Given the description of an element on the screen output the (x, y) to click on. 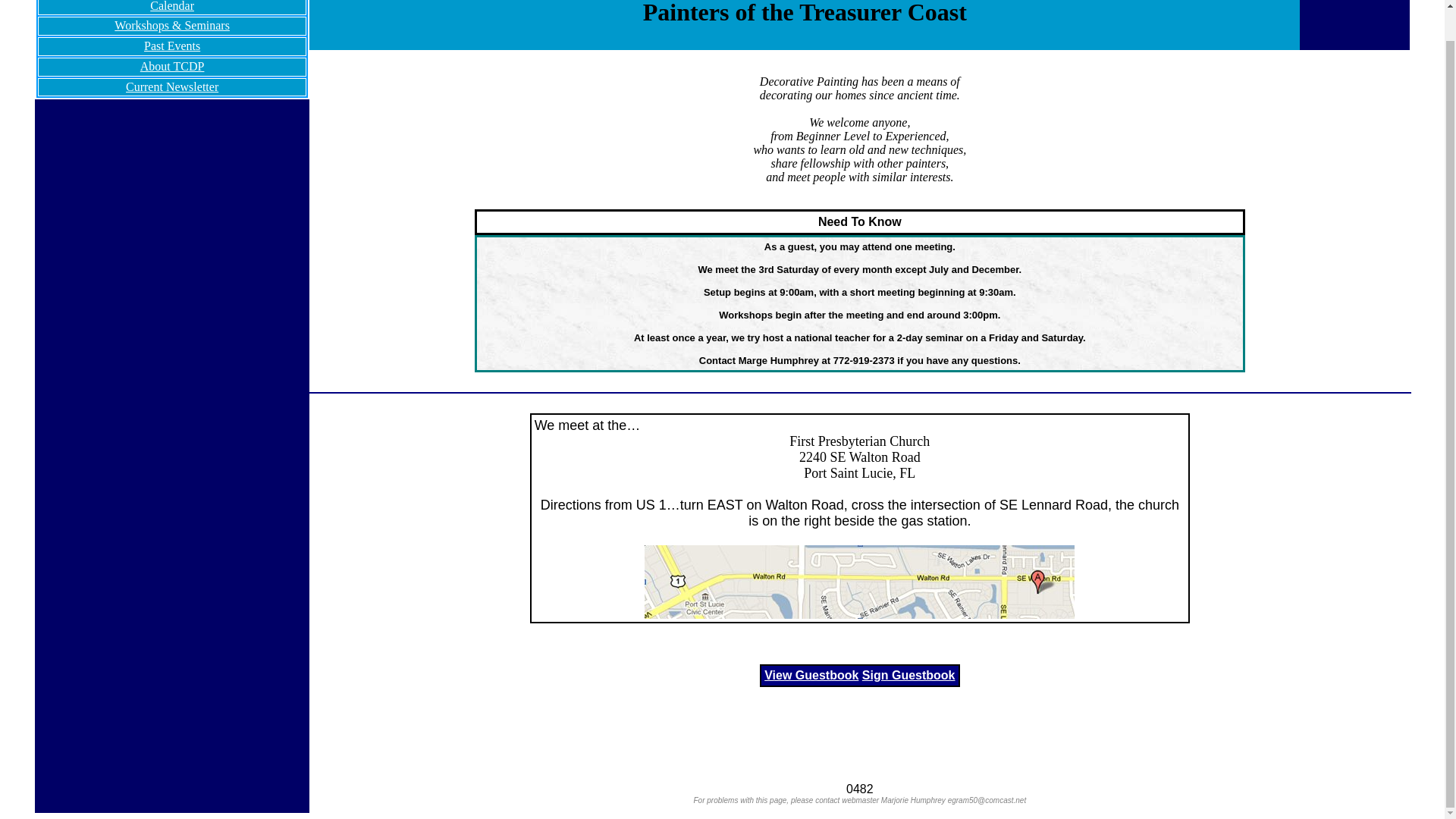
View Guestbook (811, 675)
Past Events (172, 45)
Sign Guestbook (908, 675)
About TCDP (172, 65)
Current Newsletter (171, 86)
Calendar (171, 6)
